Given the description of an element on the screen output the (x, y) to click on. 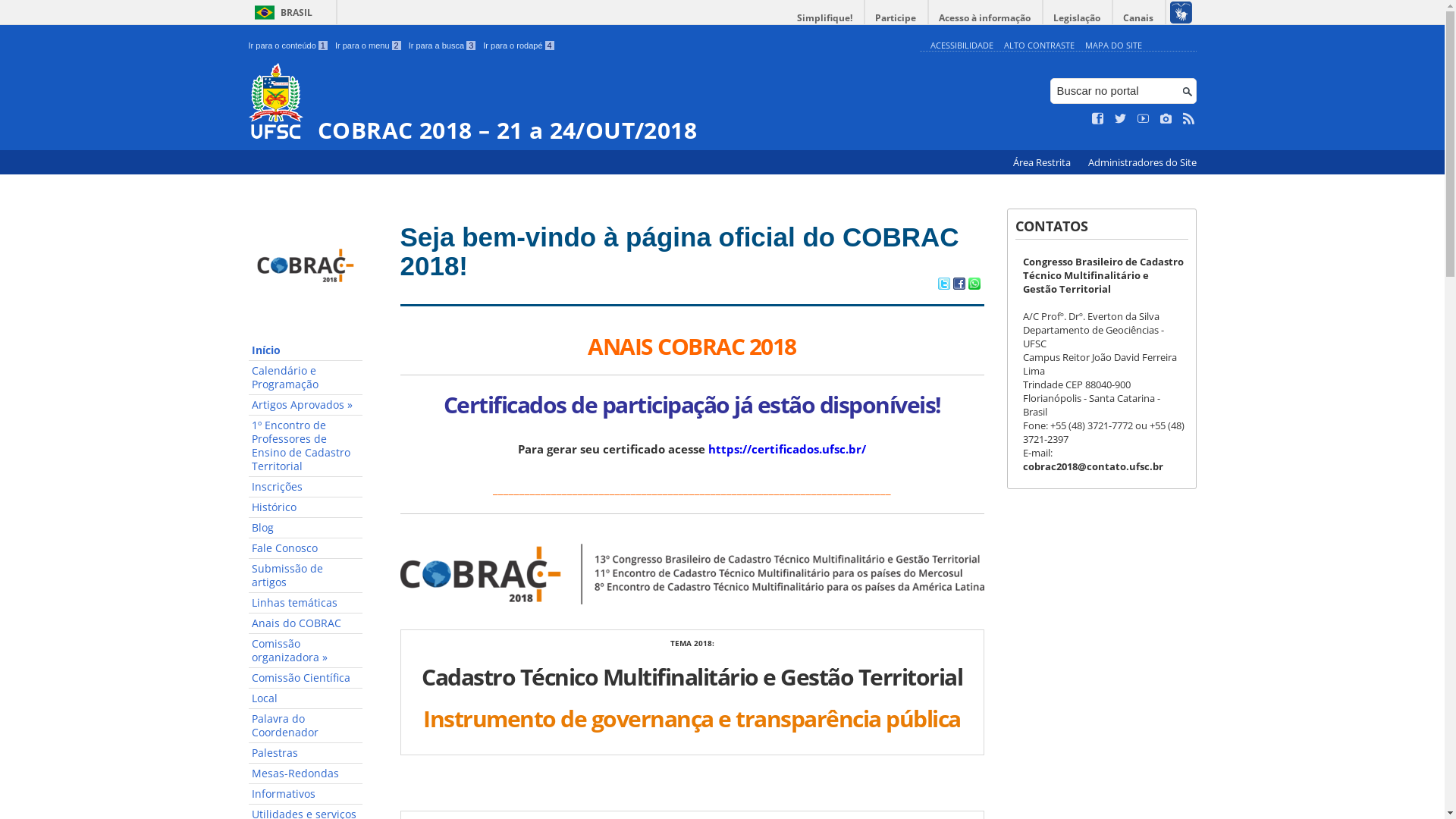
Veja no Instagram Element type: hover (1166, 118)
Administradores do Site Element type: text (1141, 162)
Compartilhar no WhatsApp Element type: hover (973, 284)
MAPA DO SITE Element type: text (1112, 44)
Canais Element type: text (1138, 18)
Palestras Element type: text (305, 753)
Mesas-Redondas Element type: text (305, 773)
Palavra do Coordenador Element type: text (305, 726)
Simplifique! Element type: text (825, 18)
Ir para o menu 2 Element type: text (368, 45)
Curta no Facebook Element type: hover (1098, 118)
Fale Conosco Element type: text (305, 548)
Blog Element type: text (305, 527)
Compartilhar no Twitter Element type: hover (943, 284)
Local Element type: text (305, 698)
Informativos Element type: text (305, 794)
ALTO CONTRASTE Element type: text (1039, 44)
Participe Element type: text (895, 18)
Siga no Twitter Element type: hover (1120, 118)
Compartilhar no Facebook Element type: hover (958, 284)
ACESSIBILIDADE Element type: text (960, 44)
Anais do COBRAC Element type: text (305, 623)
https://certificados.ufsc.br/ Element type: text (787, 448)
BRASIL Element type: text (280, 12)
ANAIS COBRAC 2018 Element type: text (691, 345)
Ir para a busca 3 Element type: text (442, 45)
